Given the description of an element on the screen output the (x, y) to click on. 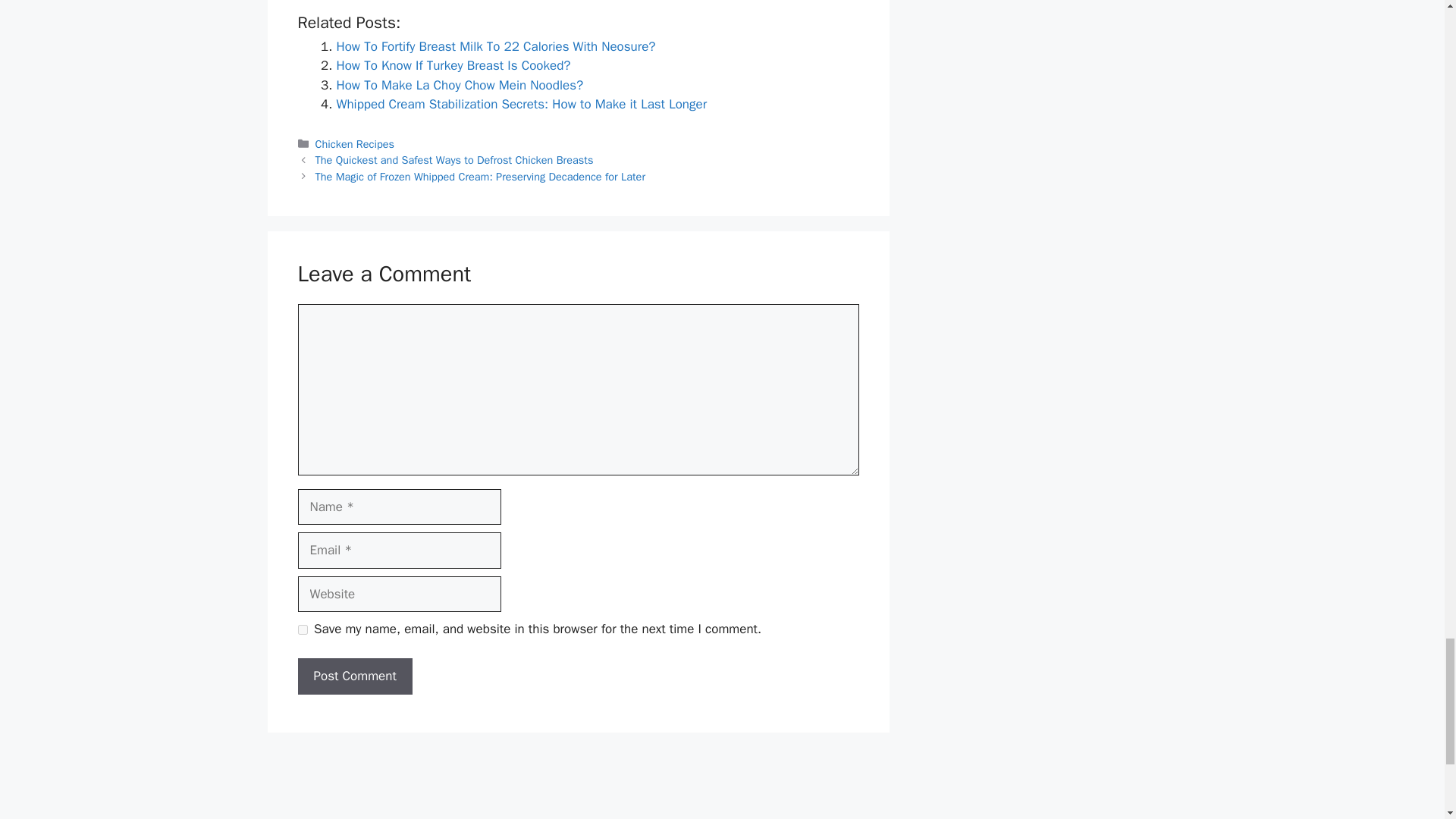
How To Know If Turkey Breast Is Cooked? (453, 65)
Chicken Recipes (354, 143)
How To Know If Turkey Breast Is Cooked? (453, 65)
How To Make La Choy Chow Mein Noodles? (459, 84)
How To Fortify Breast Milk To 22 Calories With Neosure? (496, 46)
yes (302, 629)
The Quickest and Safest Ways to Defrost Chicken Breasts (454, 160)
Post Comment (354, 676)
